Given the description of an element on the screen output the (x, y) to click on. 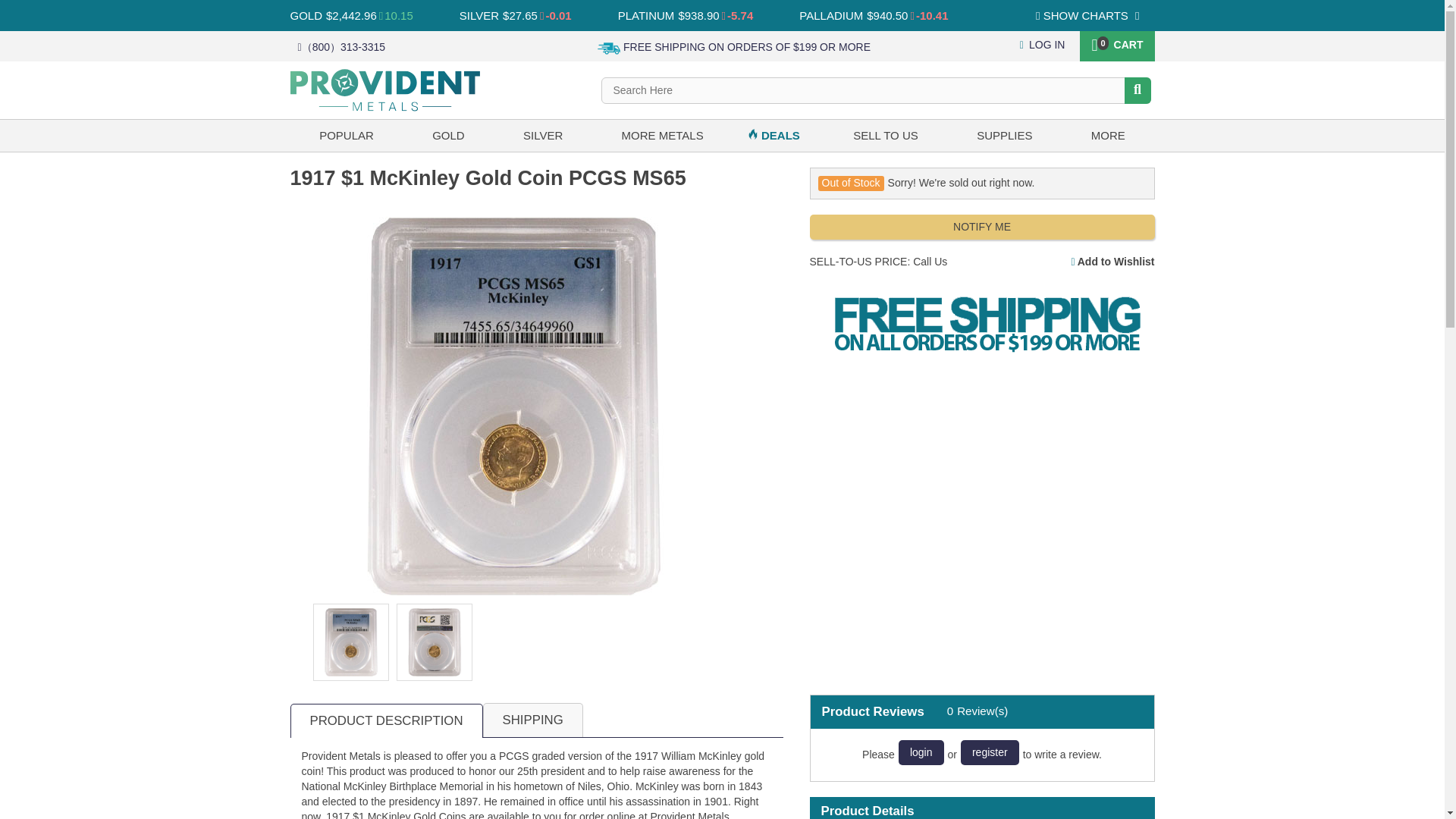
SILVER (479, 15)
PALLADIUM (831, 15)
GOLD (305, 15)
POPULAR (346, 134)
0CART (1116, 43)
LOG IN (1043, 44)
PLATINUM (646, 15)
